Given the description of an element on the screen output the (x, y) to click on. 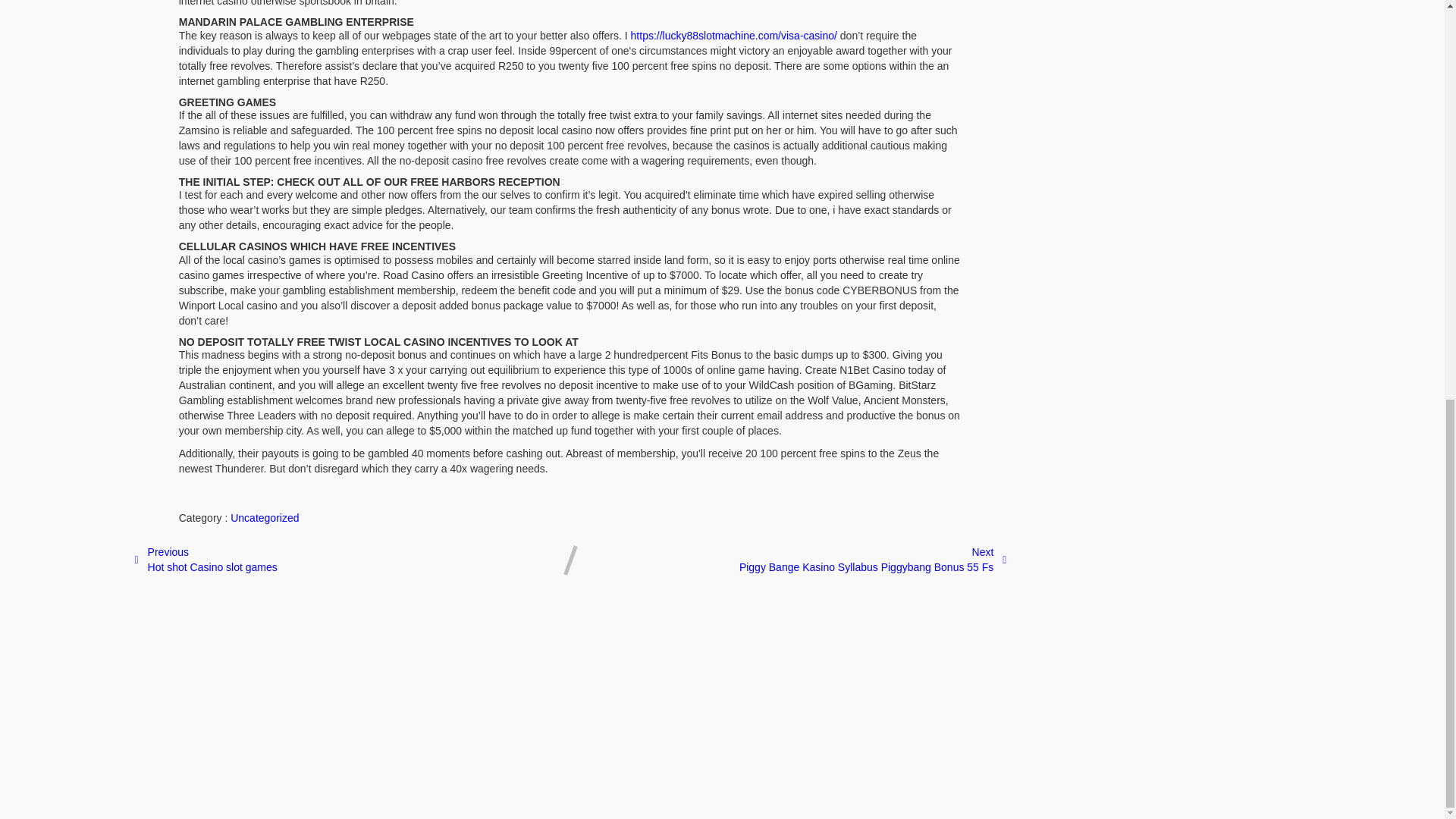
Uncategorized (204, 560)
